Given the description of an element on the screen output the (x, y) to click on. 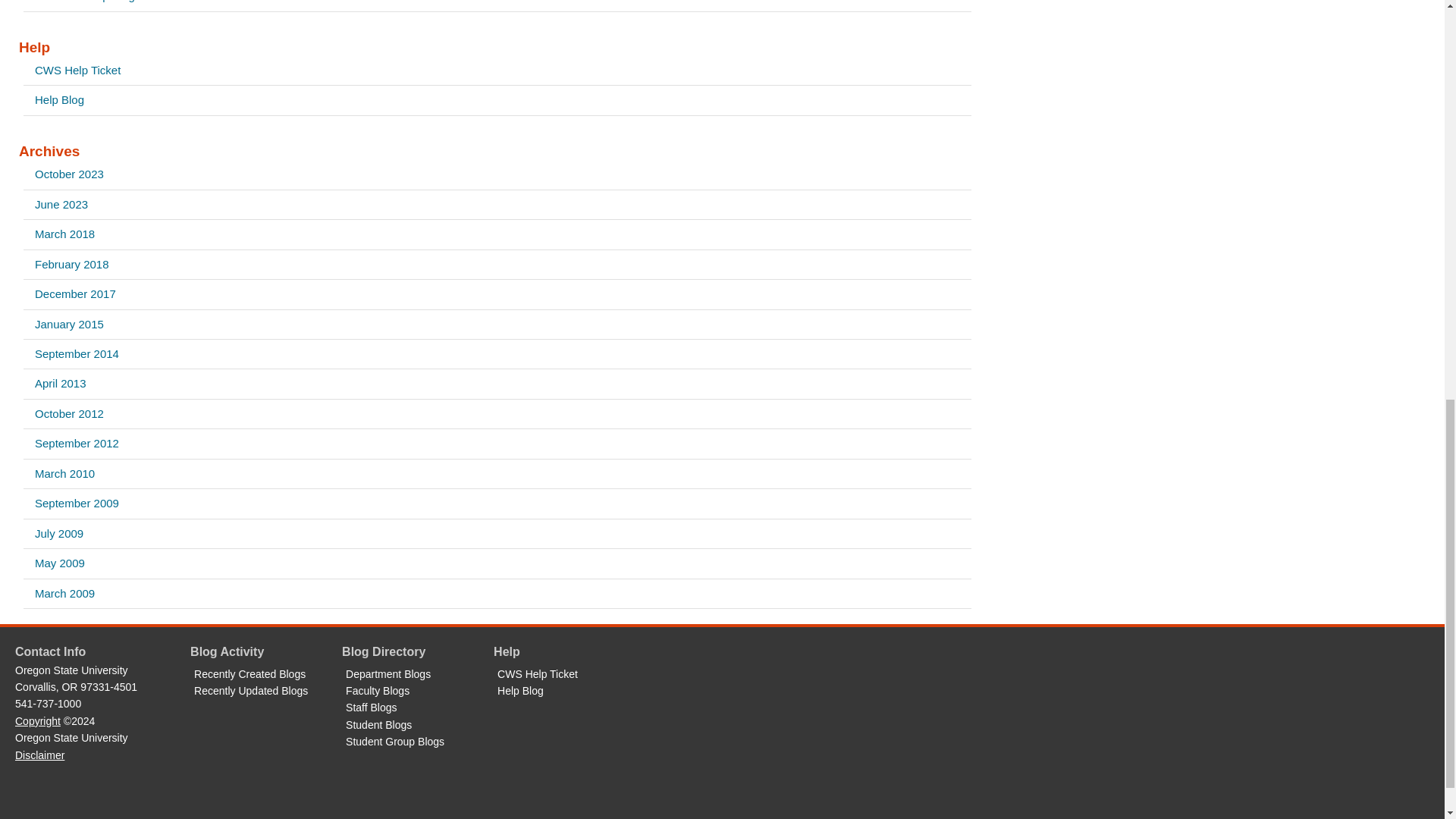
September 2014 (497, 353)
October 2012 (497, 413)
July 2009 (497, 533)
May 2009 (497, 563)
Copyright (37, 720)
CWS Help Ticket (497, 70)
March 2010 (497, 473)
June 2023 (497, 204)
April 2013 (497, 383)
January 2015 (497, 324)
December 2017 (497, 294)
February 2018 (497, 264)
September 2009 (497, 502)
March 2018 (497, 234)
